Given the description of an element on the screen output the (x, y) to click on. 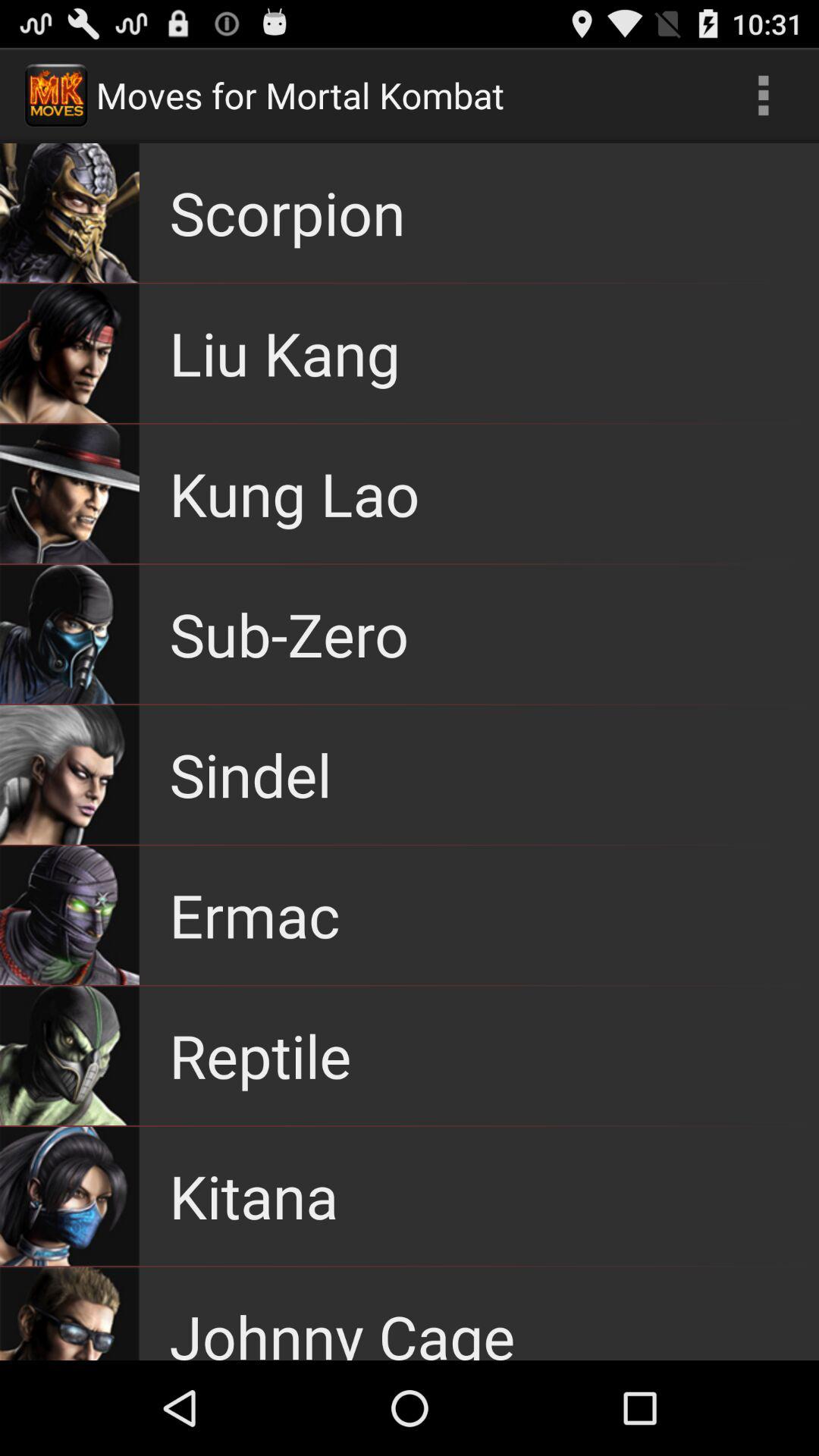
select the app above sindel app (288, 633)
